Given the description of an element on the screen output the (x, y) to click on. 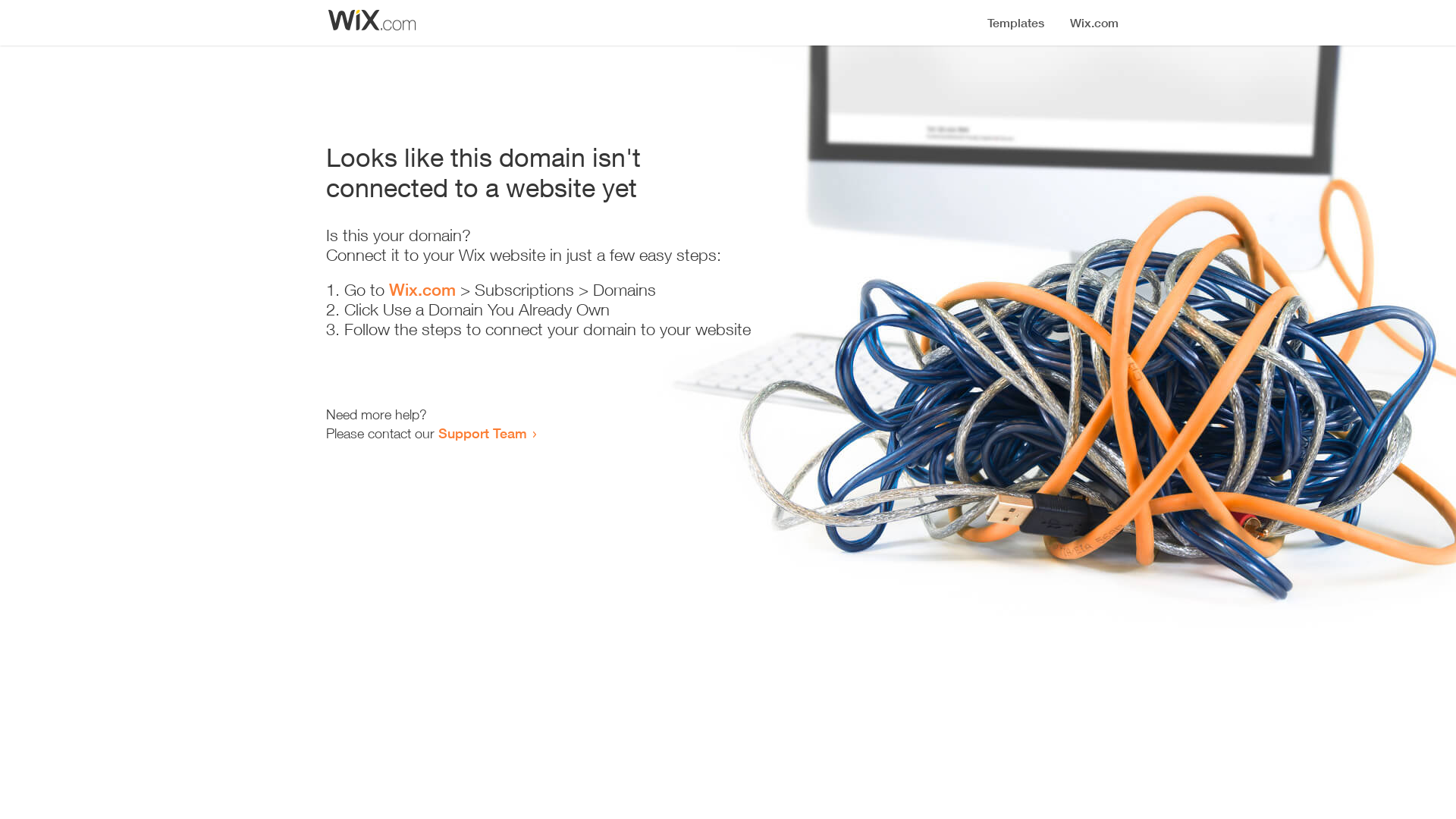
Wix.com Element type: text (422, 289)
Support Team Element type: text (482, 432)
